Given the description of an element on the screen output the (x, y) to click on. 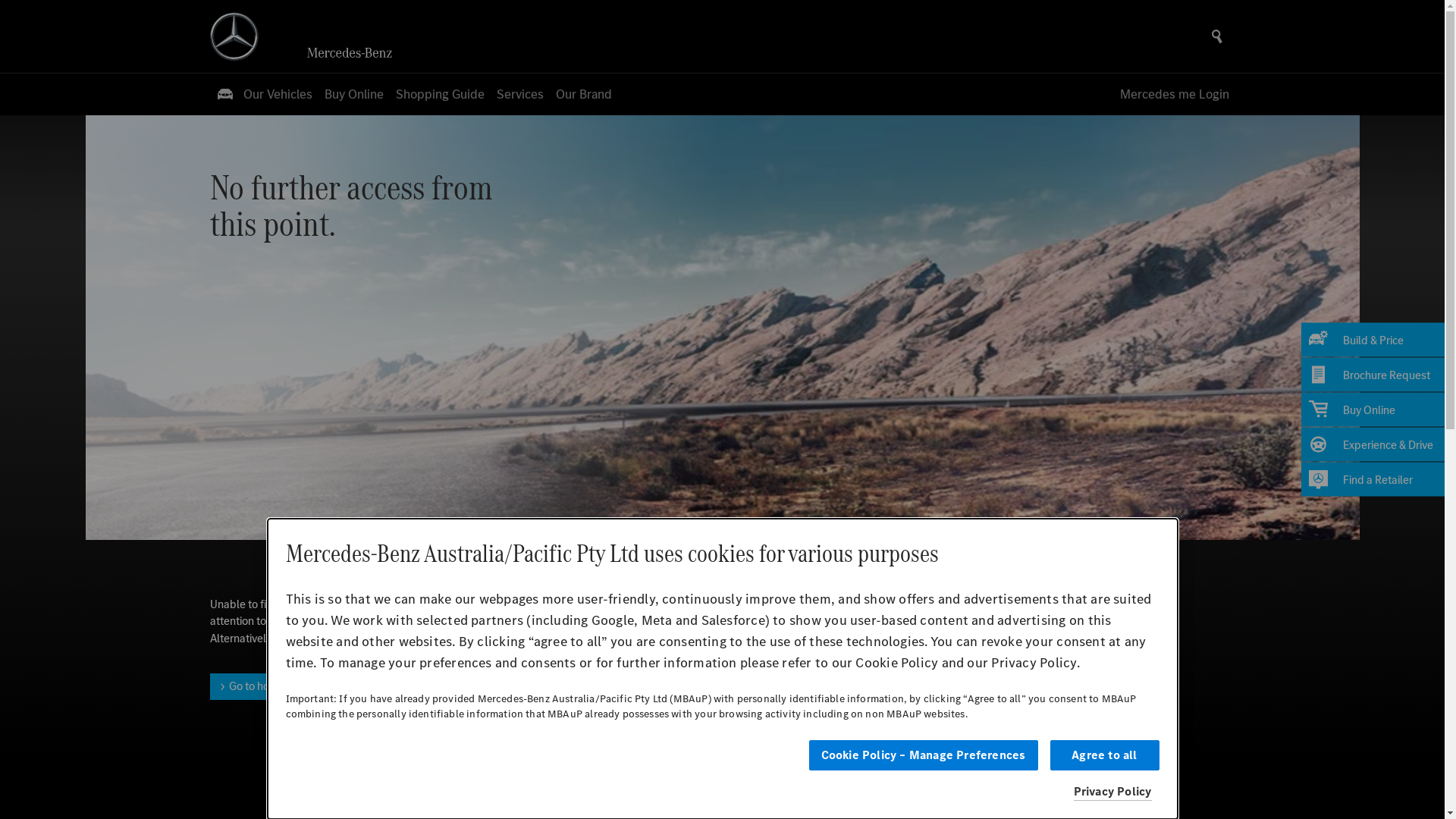
Our Vehicles Element type: text (263, 93)
Mercedes-Benz Logo Element type: hover (233, 36)
Services Element type: text (519, 93)
Buy Online Element type: text (1372, 409)
Go to homepage Element type: text (264, 686)
Build & Price Element type: text (1372, 340)
Our Brand Element type: text (583, 93)
Up Element type: text (721, 780)
Buy Online Element type: text (353, 93)
Find a Retailer Element type: text (1372, 479)
Mercedes-Benz Brandmark Element type: hover (354, 52)
Mercedes me Login Element type: text (1173, 93)
Up Element type: hover (721, 767)
Experience & Drive Element type: text (1372, 444)
Shopping Guide Element type: text (439, 93)
Brochure Request Element type: text (1372, 374)
